Given the description of an element on the screen output the (x, y) to click on. 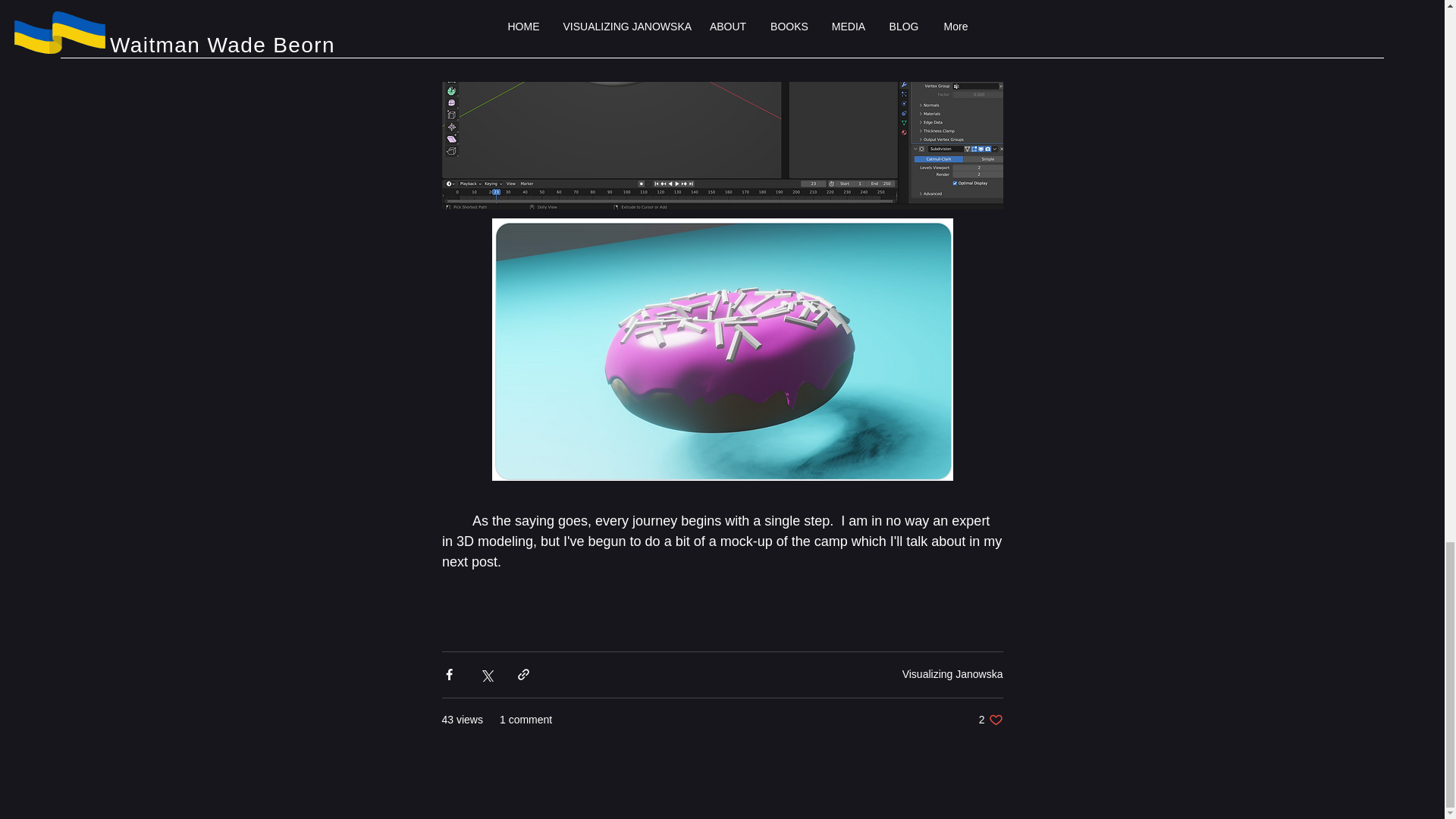
Visualizing Janowska (952, 674)
